Given the description of an element on the screen output the (x, y) to click on. 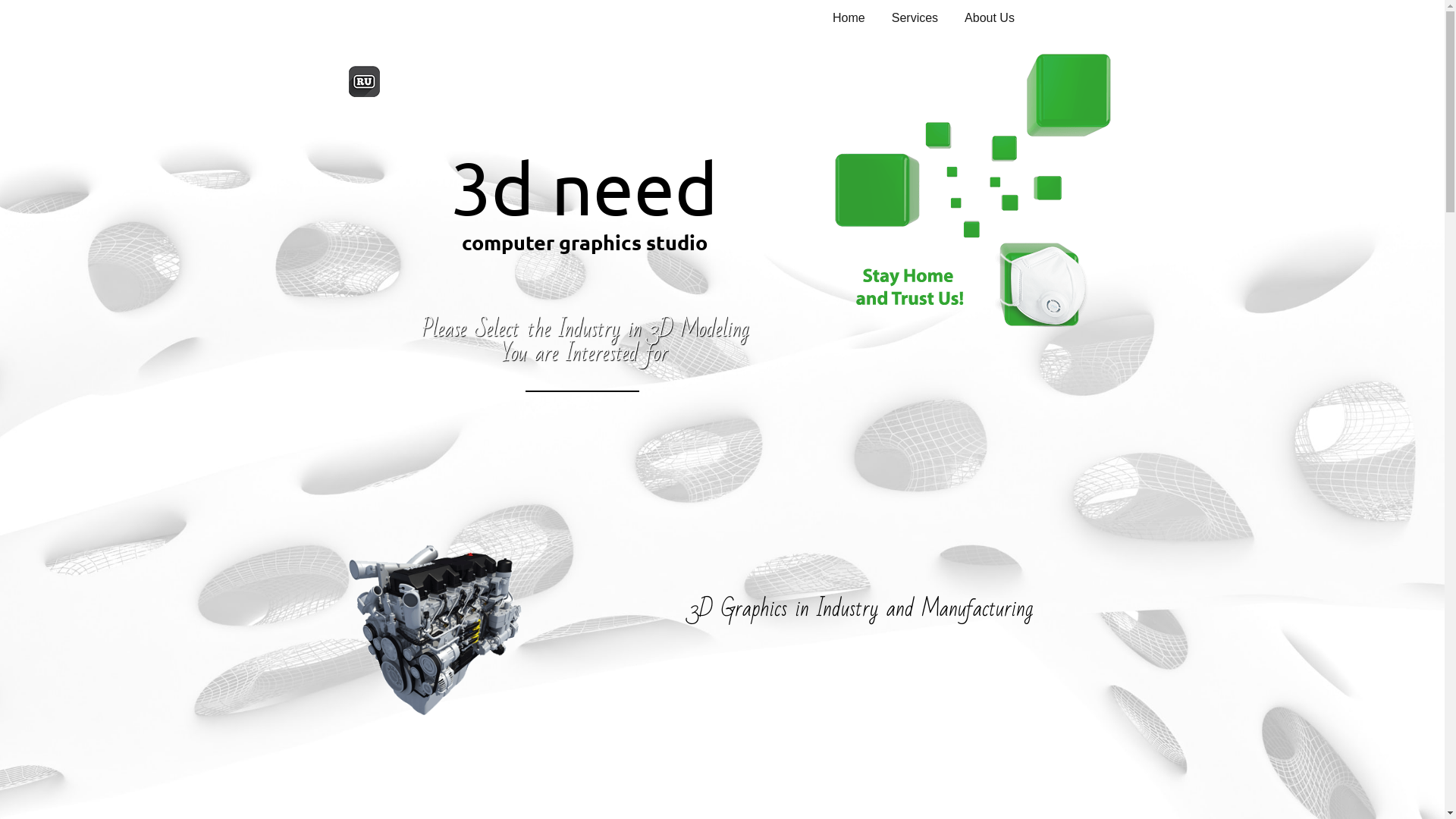
Services Element type: text (914, 17)
Home Element type: text (848, 17)
About Us Element type: text (989, 17)
Industrial and Manufacturers Products 3d Modeling Offers Element type: hover (433, 627)
3d need Computer Graphics Studio Element type: hover (972, 189)
